Given the description of an element on the screen output the (x, y) to click on. 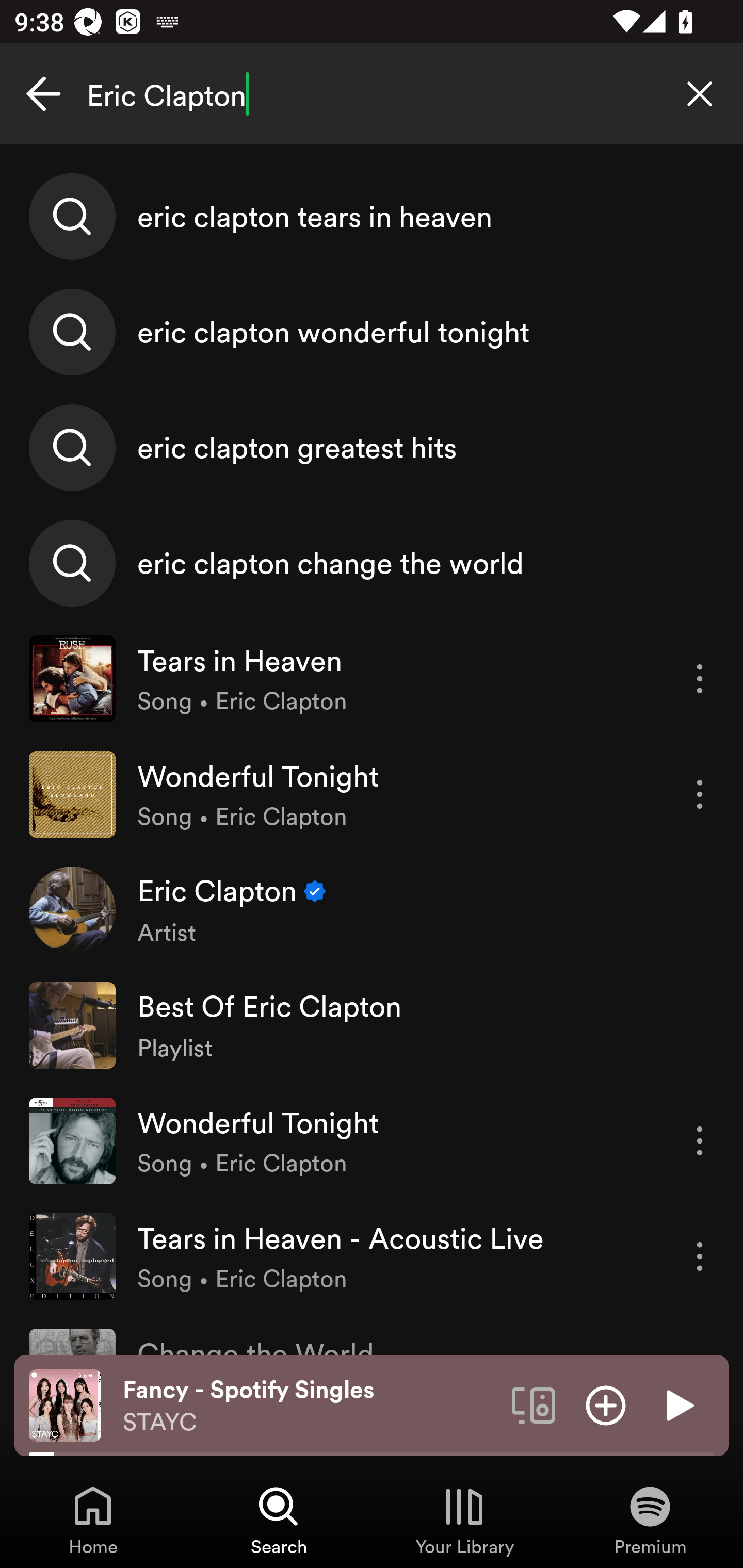
Eric Clapton (371, 93)
Cancel (43, 93)
Clear search query (699, 93)
eric clapton tears in heaven (371, 216)
eric clapton wonderful tonight (371, 332)
eric clapton greatest hits (371, 447)
eric clapton change the world (371, 562)
More options for song Tears in Heaven (699, 678)
More options for song Wonderful Tonight (699, 794)
Eric Clapton Verified Artist (371, 909)
Best Of Eric Clapton Playlist (371, 1025)
More options for song Wonderful Tonight (699, 1140)
Fancy - Spotify Singles STAYC (309, 1405)
The cover art of the currently playing track (64, 1404)
Connect to a device. Opens the devices menu (533, 1404)
Add item (605, 1404)
Play (677, 1404)
Home, Tab 1 of 4 Home Home (92, 1519)
Search, Tab 2 of 4 Search Search (278, 1519)
Your Library, Tab 3 of 4 Your Library Your Library (464, 1519)
Premium, Tab 4 of 4 Premium Premium (650, 1519)
